Given the description of an element on the screen output the (x, y) to click on. 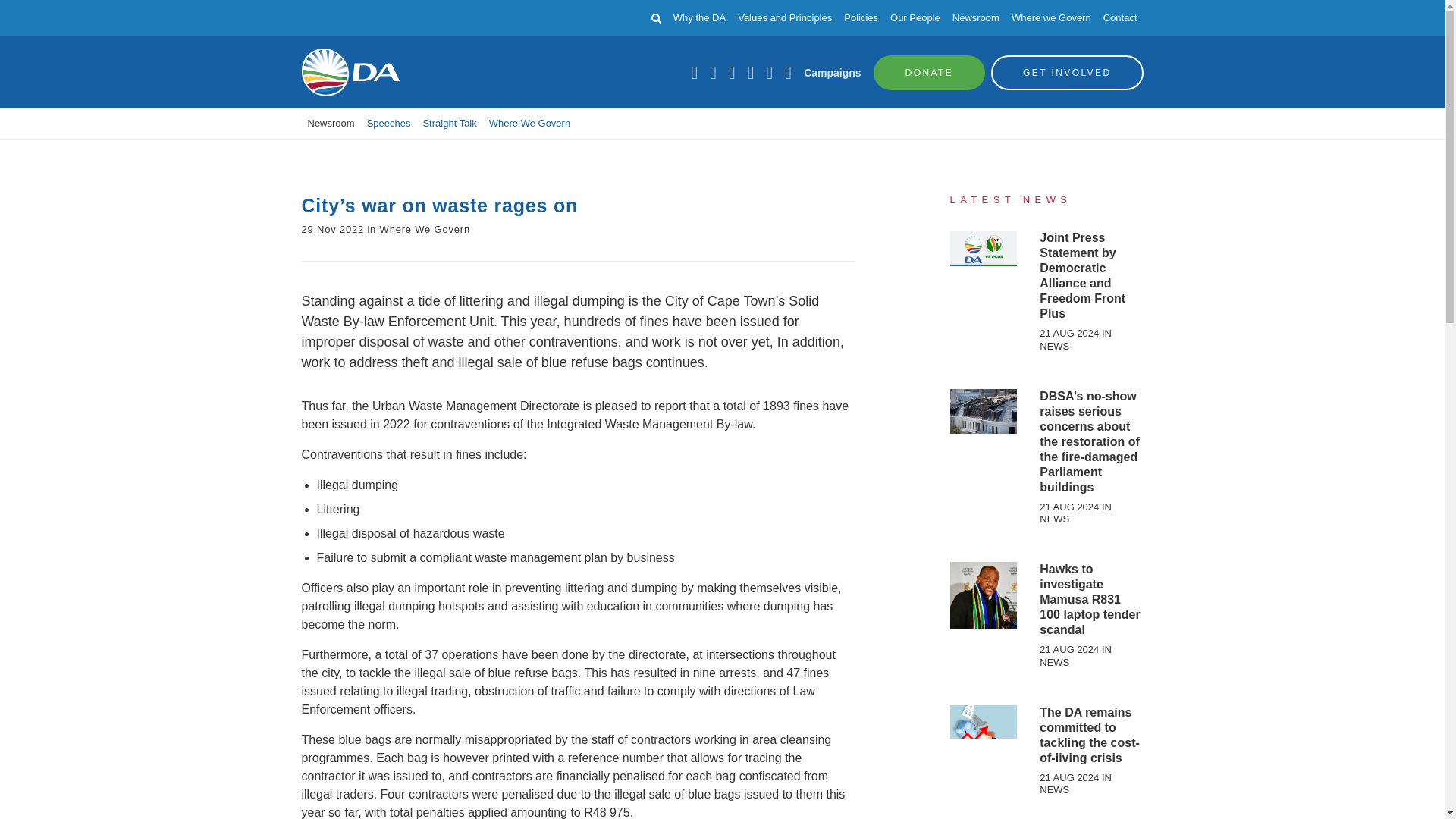
Why the DA (698, 17)
Newsroom (975, 17)
Democratic Alliance Logo (350, 72)
Donate (929, 70)
Newsroom (331, 122)
DONATE (929, 71)
Our People (914, 17)
Values and Principles (784, 17)
Where we Govern (1050, 17)
GET INVOLVED (1066, 71)
